Given the description of an element on the screen output the (x, y) to click on. 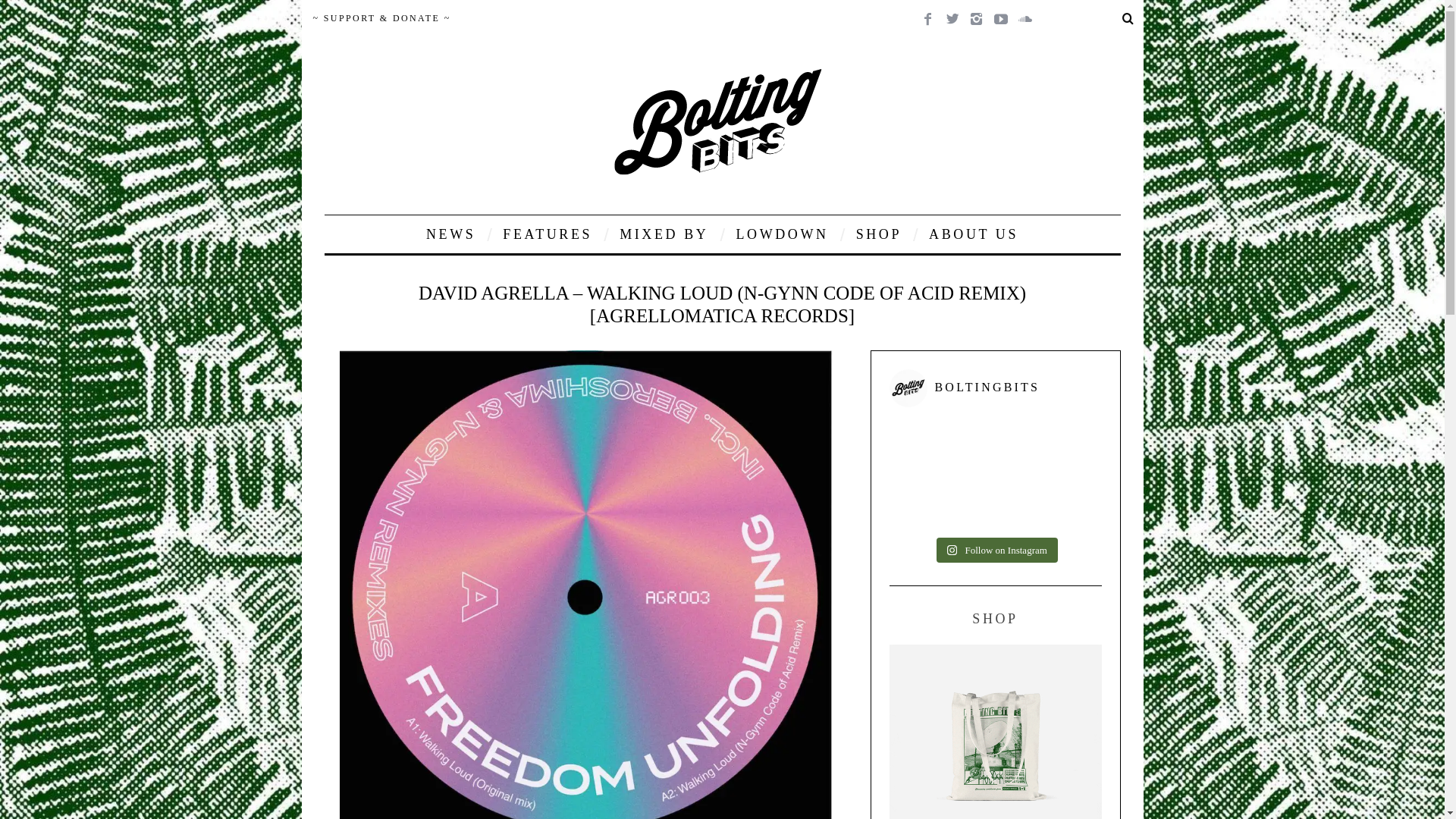
MIXED BY (663, 234)
NEWS (450, 234)
Search (1093, 18)
SHOP (878, 234)
FEATURES (548, 234)
LOWDOWN (781, 234)
